Given the description of an element on the screen output the (x, y) to click on. 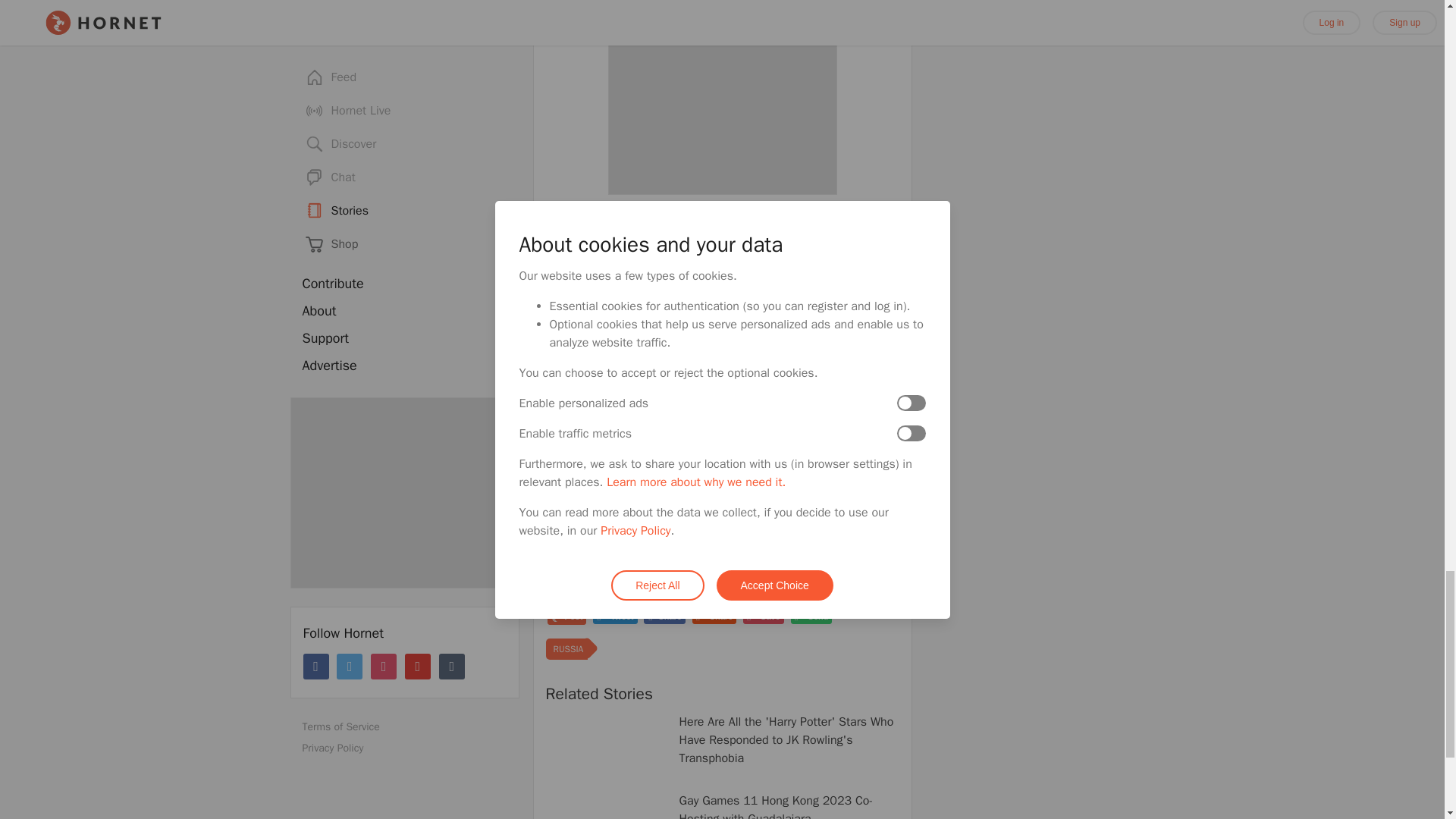
Tweet (614, 616)
here (557, 585)
Share (714, 616)
Post (566, 616)
Share (664, 616)
here (730, 568)
